Given the description of an element on the screen output the (x, y) to click on. 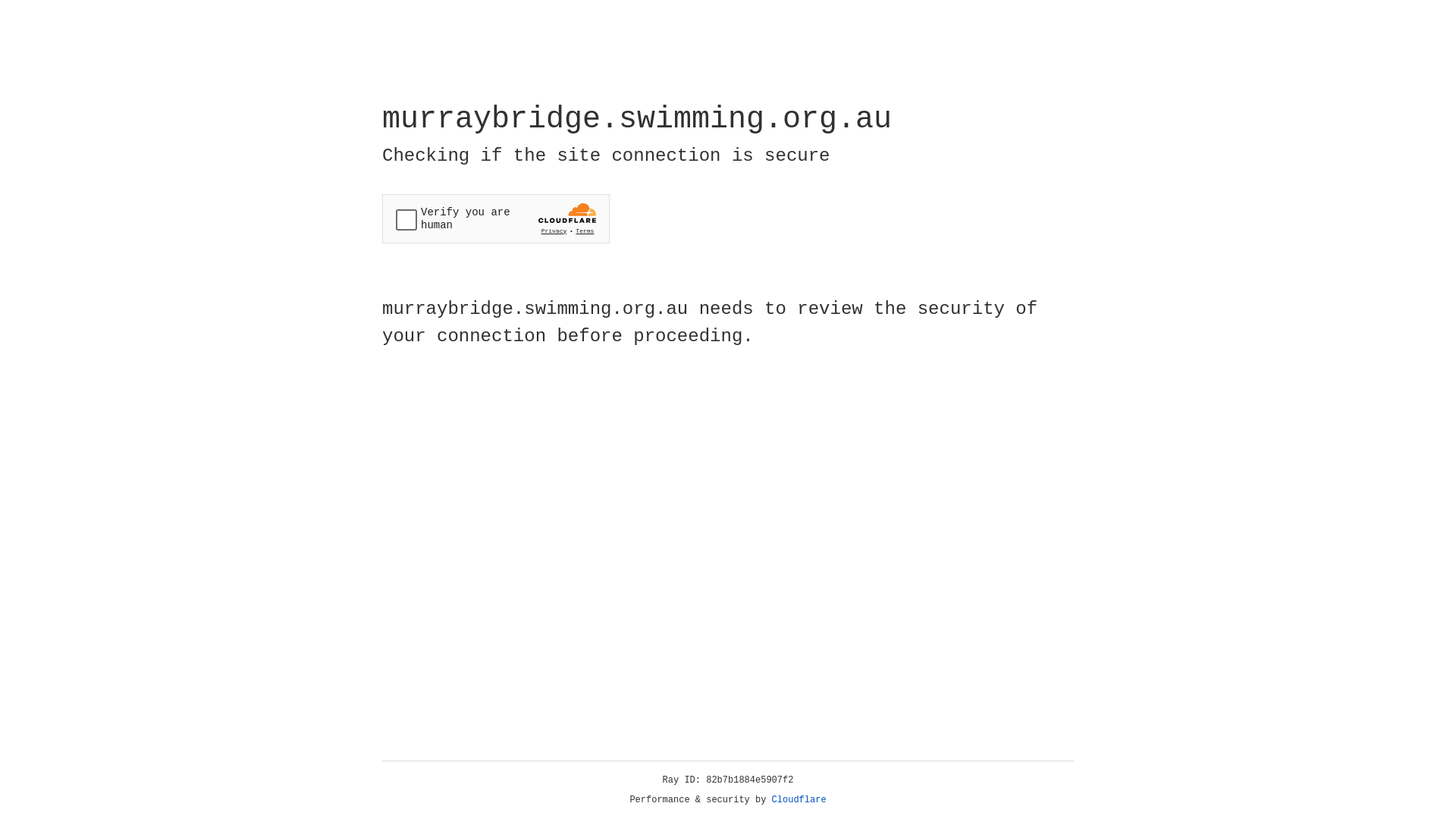
Widget containing a Cloudflare security challenge Element type: hover (495, 218)
Cloudflare Element type: text (798, 799)
